Given the description of an element on the screen output the (x, y) to click on. 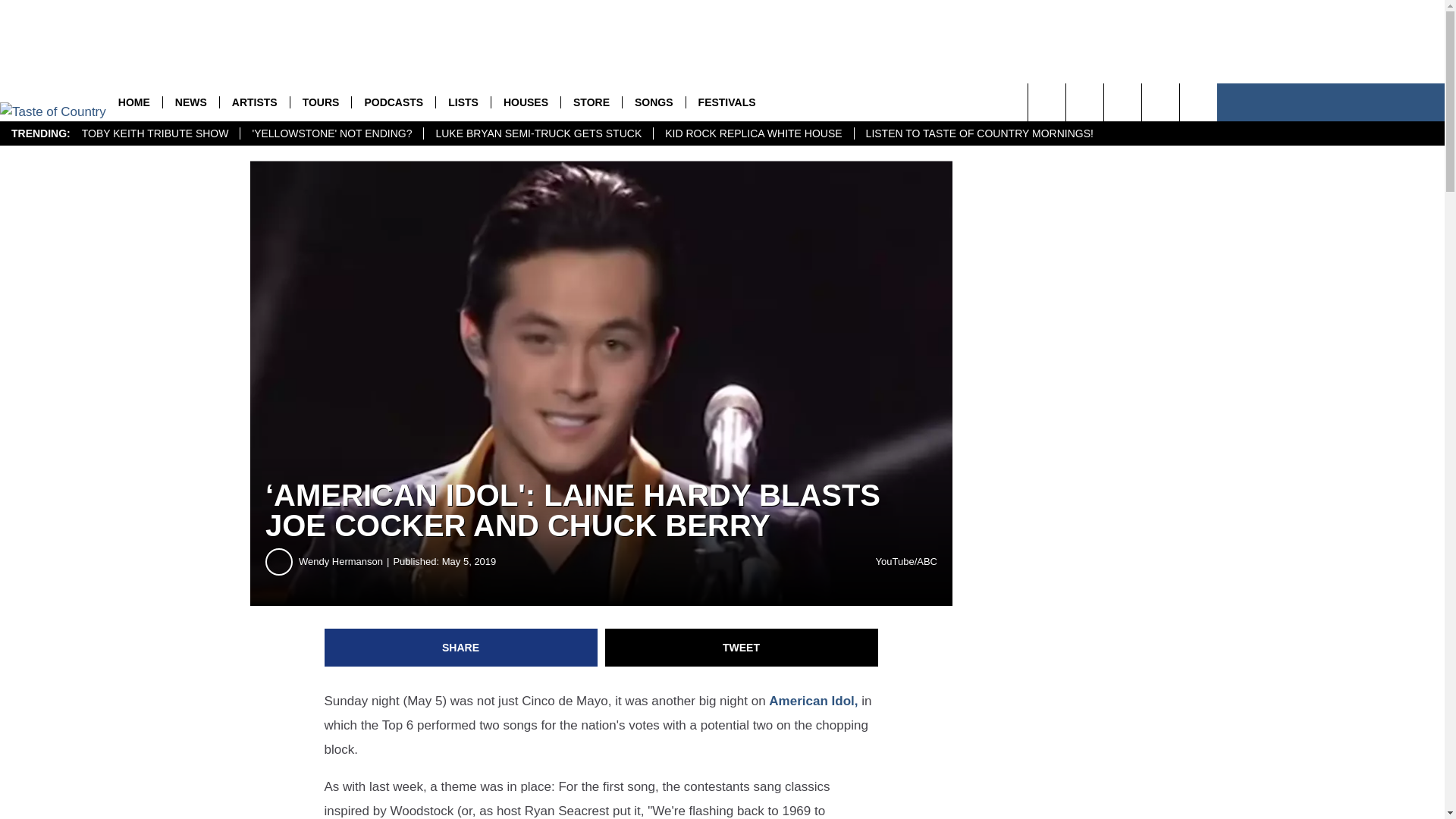
TOBY KEITH TRIBUTE SHOW (154, 133)
STORE (590, 102)
LISTS (462, 102)
TWEET (741, 647)
Visit us on Twitter (1198, 102)
NEWS (190, 102)
Visit us on Instagram (1084, 102)
HOME (133, 102)
PODCASTS (392, 102)
ARTISTS (254, 102)
